Given the description of an element on the screen output the (x, y) to click on. 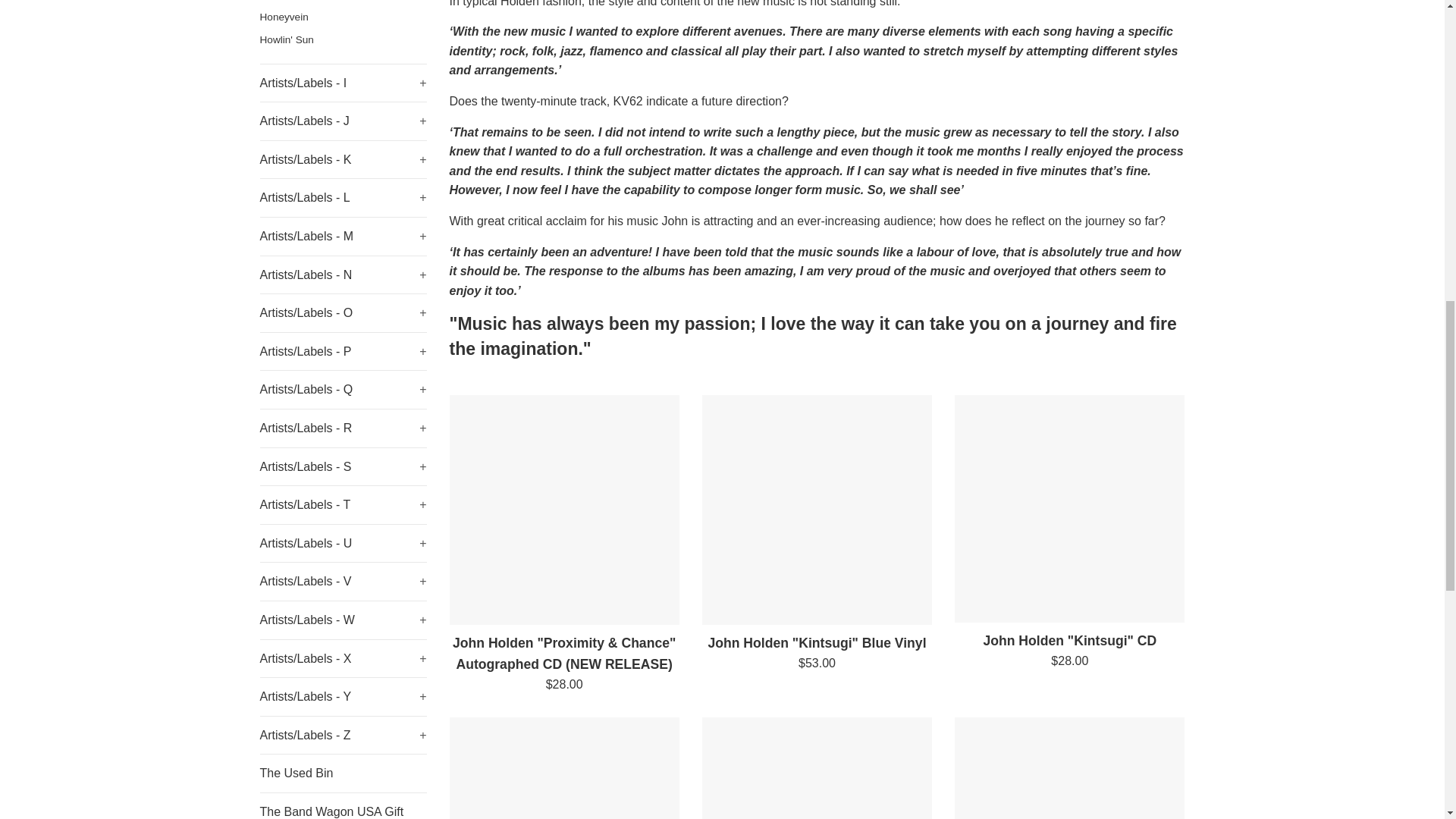
John Holden "Circles in Time" LP Vinyl (816, 768)
John Holden "Kintsugi" Blue Vinyl (816, 509)
John Holden "Rise and Fall" CD (1070, 768)
John Holden "Circles in Time" CD (563, 768)
John Holden "Kintsugi" CD (1070, 508)
